Given the description of an element on the screen output the (x, y) to click on. 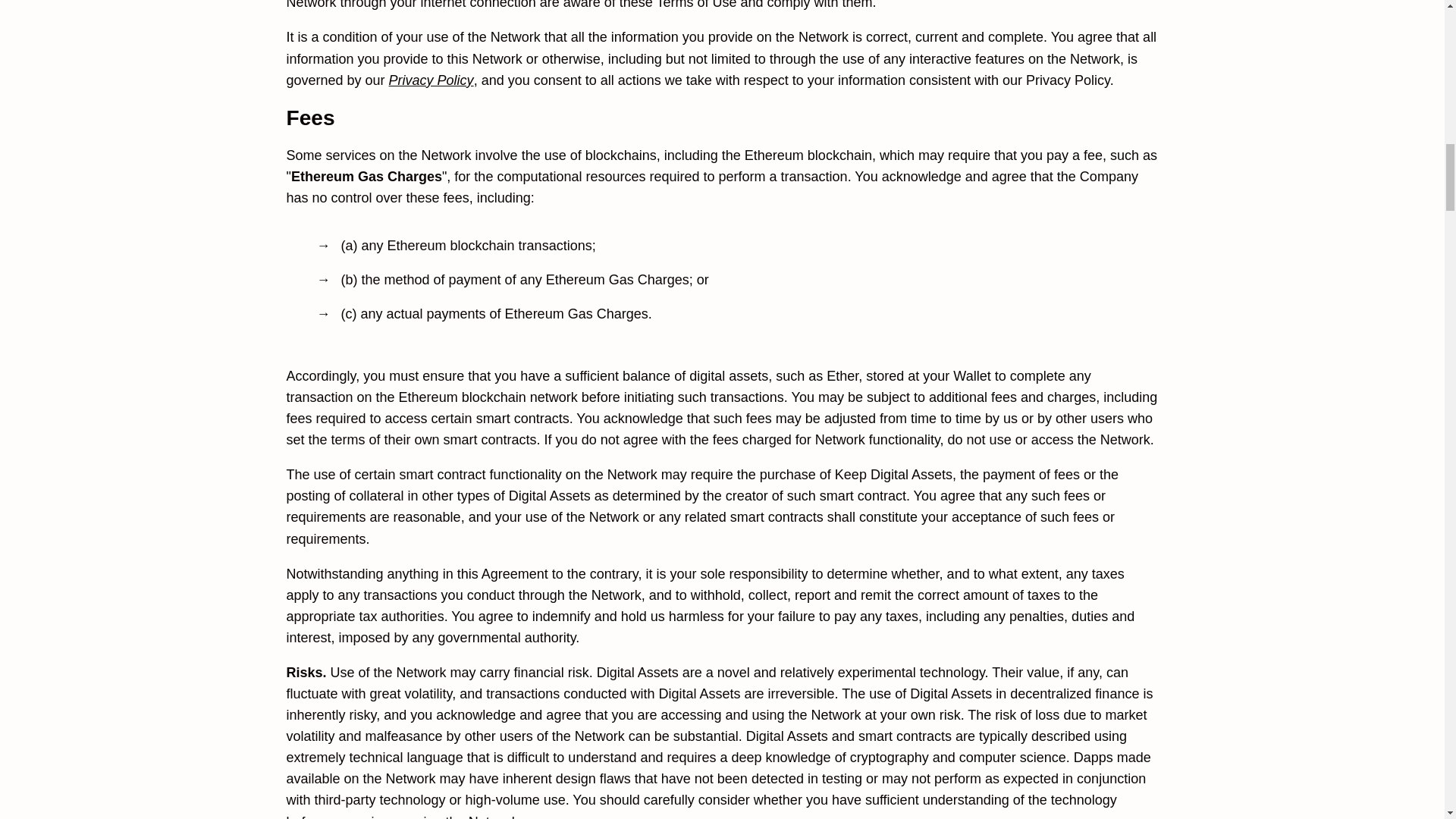
Privacy Policy (431, 79)
